Given the description of an element on the screen output the (x, y) to click on. 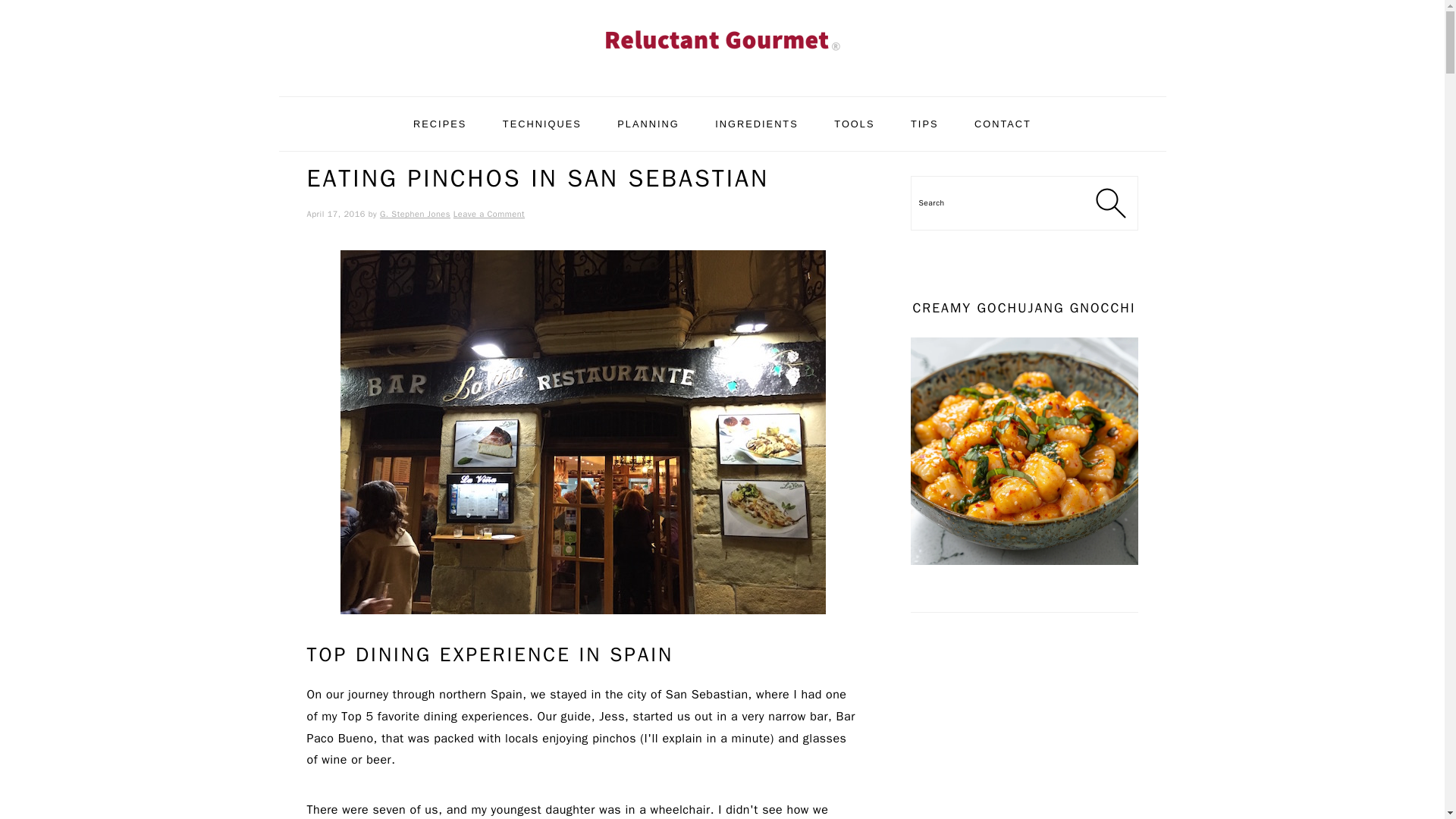
The Reluctant Gourmet (721, 38)
CONTACT (1002, 123)
G. Stephen Jones (414, 213)
TIPS (924, 123)
TOOLS (853, 123)
PLANNING (647, 123)
The Reluctant Gourmet (721, 79)
RECIPES (439, 123)
TECHNIQUES (541, 123)
